Given the description of an element on the screen output the (x, y) to click on. 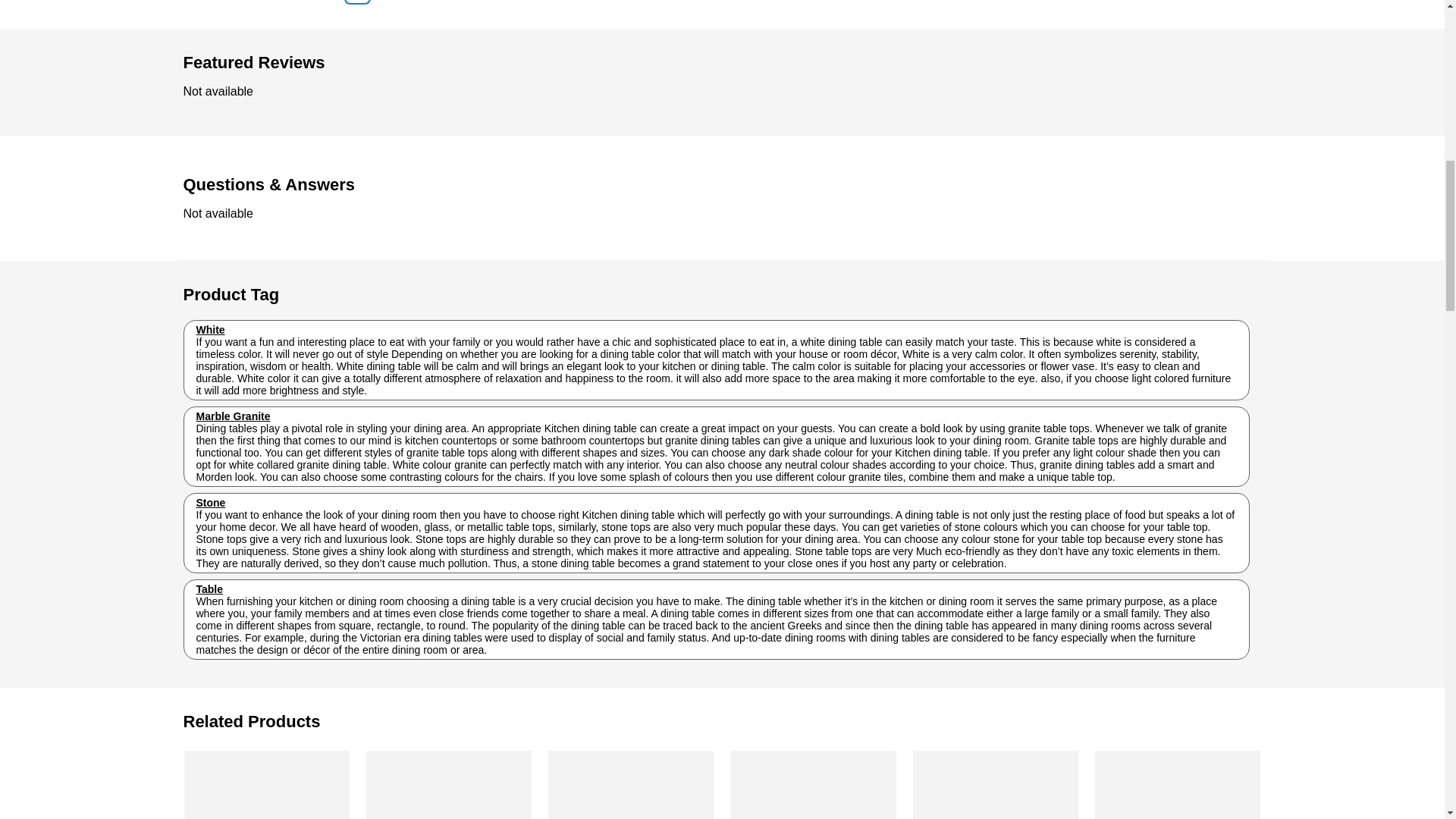
Stone (210, 502)
White (209, 329)
Marble Granite (232, 416)
Table (208, 589)
